Given the description of an element on the screen output the (x, y) to click on. 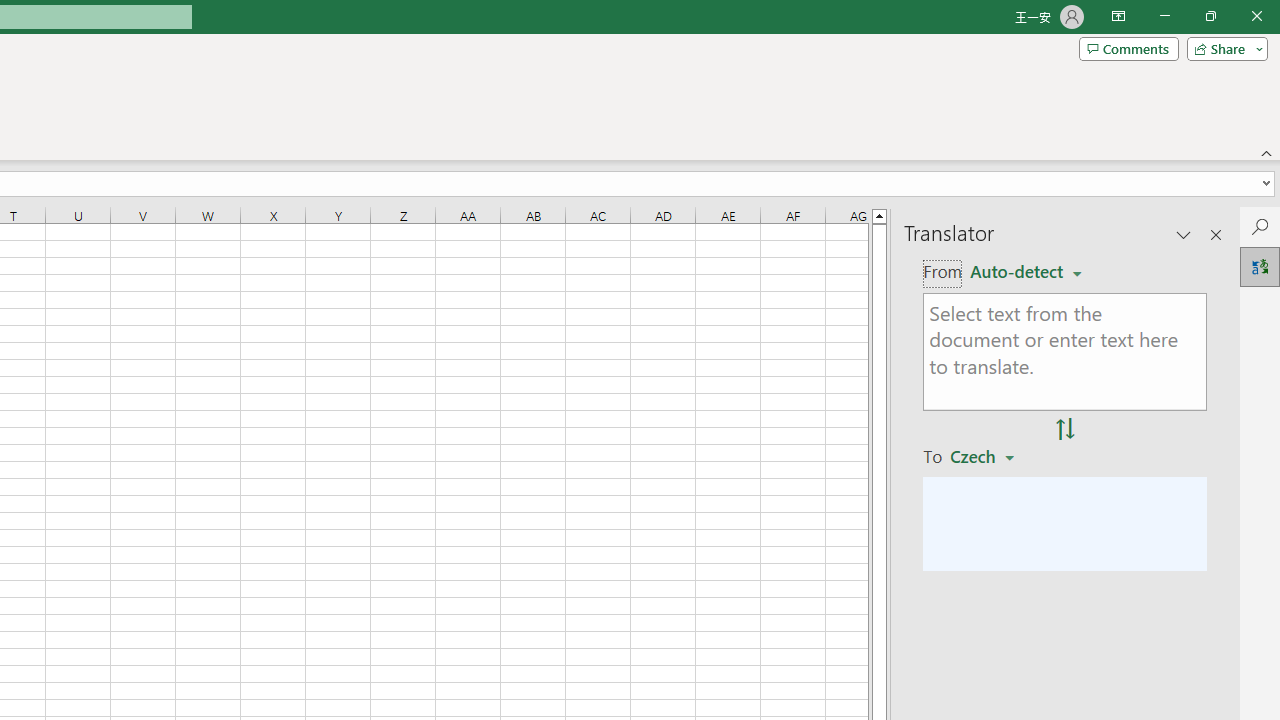
Czech (991, 455)
